Given the description of an element on the screen output the (x, y) to click on. 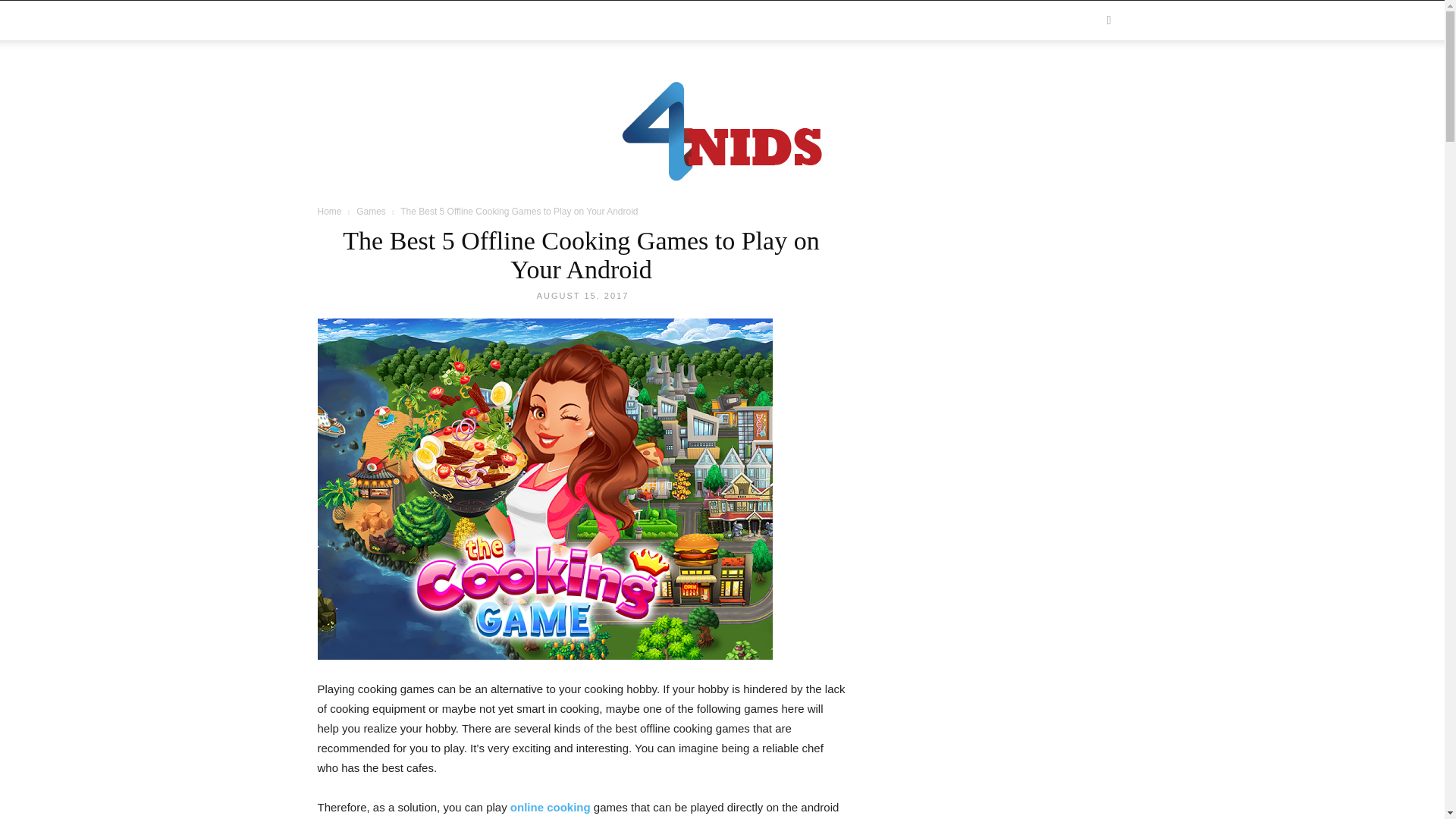
View all posts in Games (370, 211)
NEWS (518, 20)
Home (328, 211)
FASHION (571, 20)
TIPS (421, 20)
Search (1083, 83)
Games (370, 211)
GAMES (468, 20)
online cooking (551, 807)
INFORMATION (359, 20)
